Given the description of an element on the screen output the (x, y) to click on. 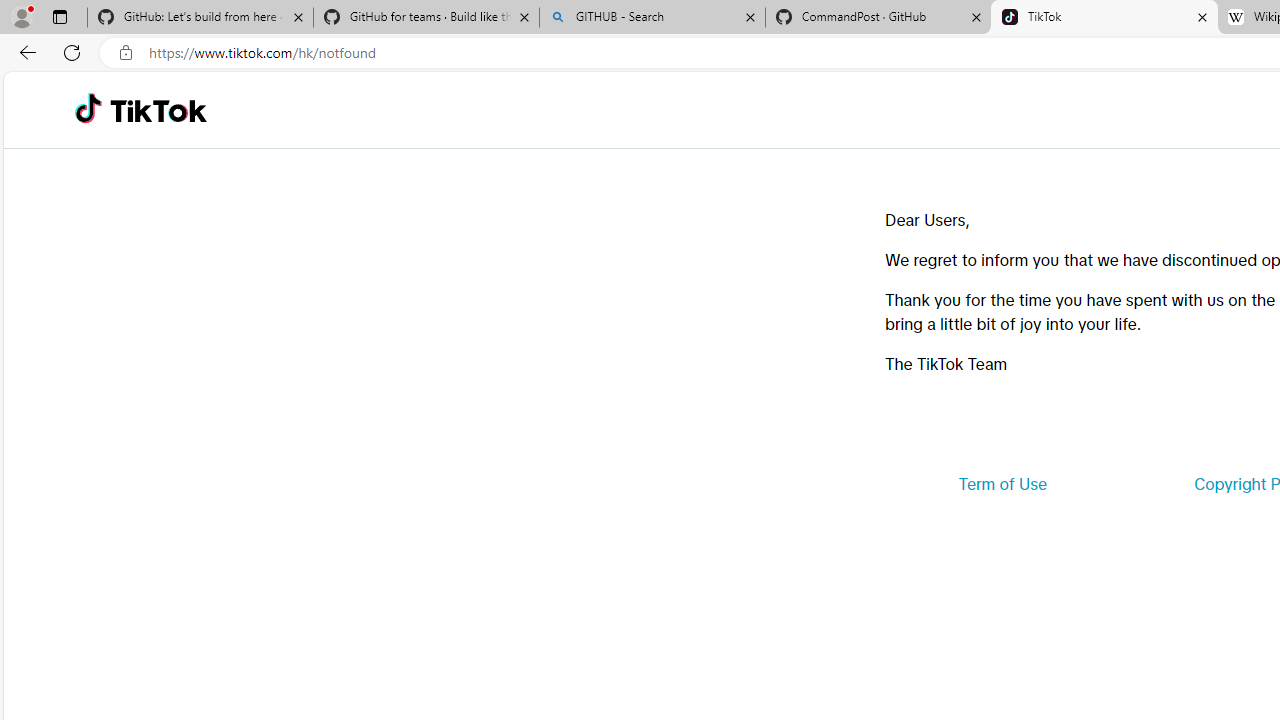
GITHUB - Search (652, 17)
Term of Use (1002, 484)
